Given the description of an element on the screen output the (x, y) to click on. 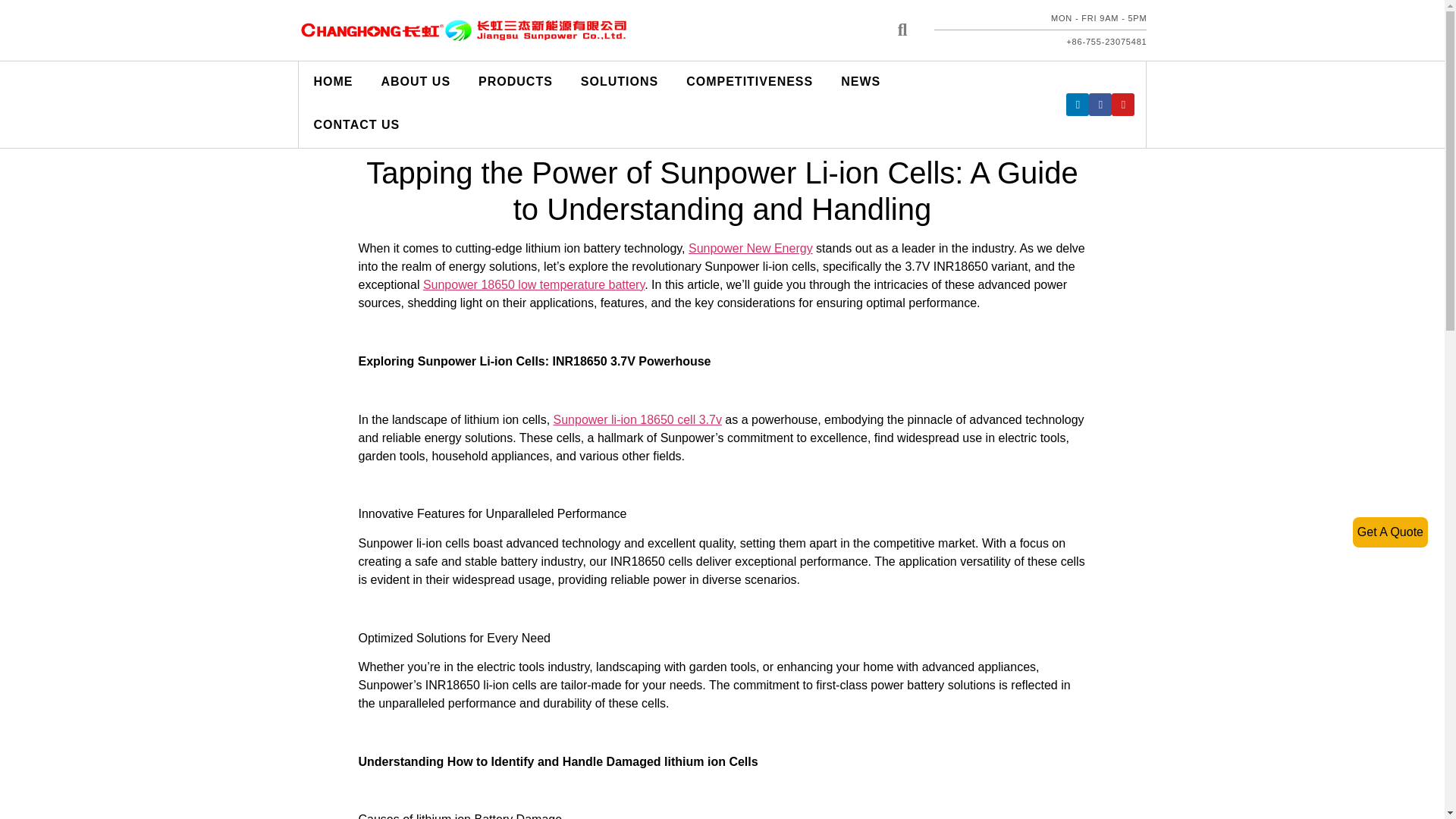
SOLUTIONS (618, 82)
CONTACT US (355, 126)
HOME (332, 82)
ABOUT US (414, 82)
NEWS (859, 82)
COMPETITIVENESS (748, 82)
PRODUCTS (514, 82)
